Given the description of an element on the screen output the (x, y) to click on. 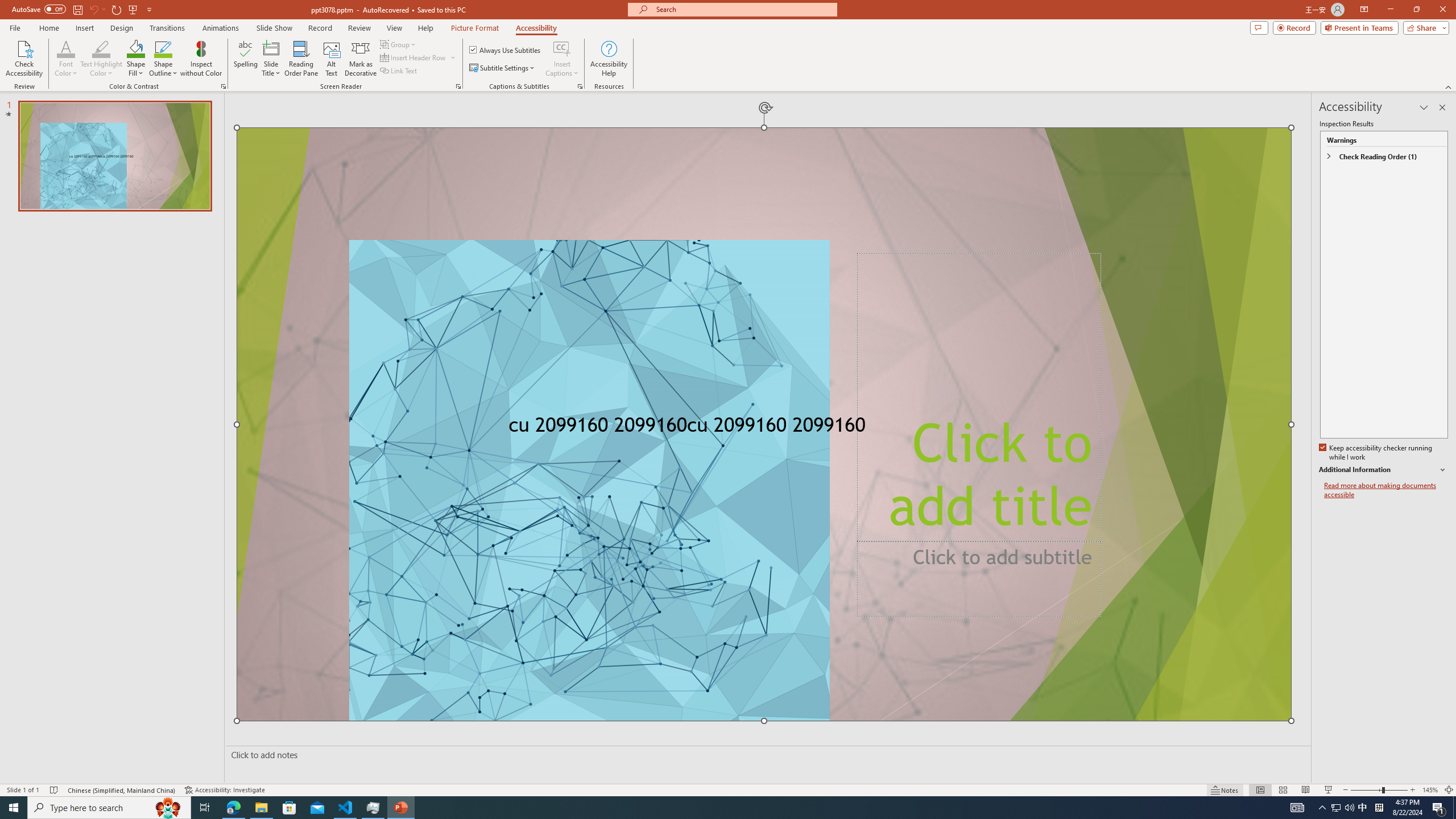
Link Text (399, 69)
Reading Order Pane (301, 58)
Color & Contrast (223, 85)
